Given the description of an element on the screen output the (x, y) to click on. 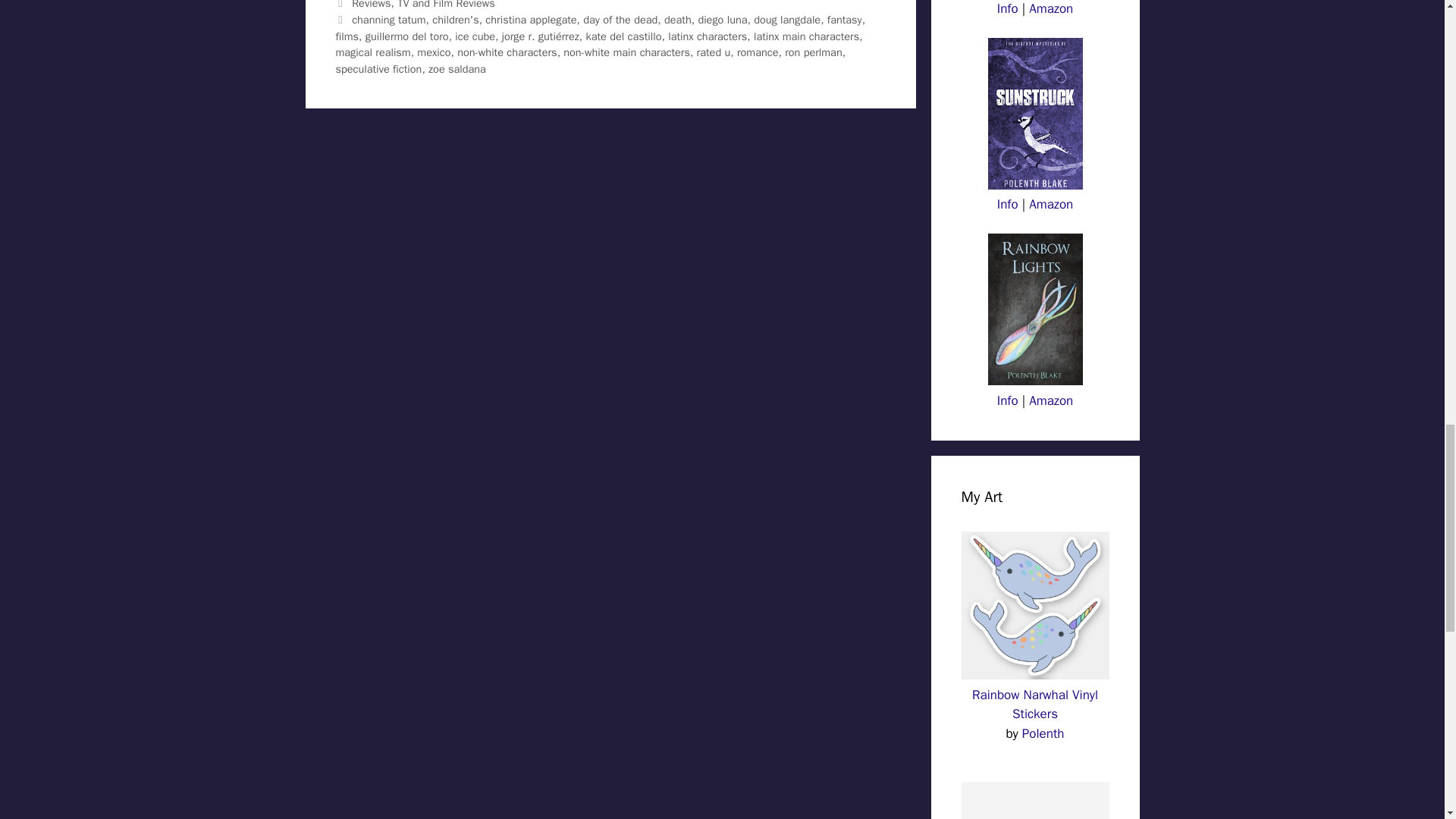
death (677, 19)
rated u (713, 51)
romance (757, 51)
non-white main characters (626, 51)
channing tatum (388, 19)
guillermo del toro (406, 36)
day of the dead (620, 19)
magical realism (372, 51)
latinx main characters (806, 36)
ice cube (474, 36)
christina applegate (530, 19)
diego luna (721, 19)
fantasy (844, 19)
Reviews (371, 4)
films (346, 36)
